Given the description of an element on the screen output the (x, y) to click on. 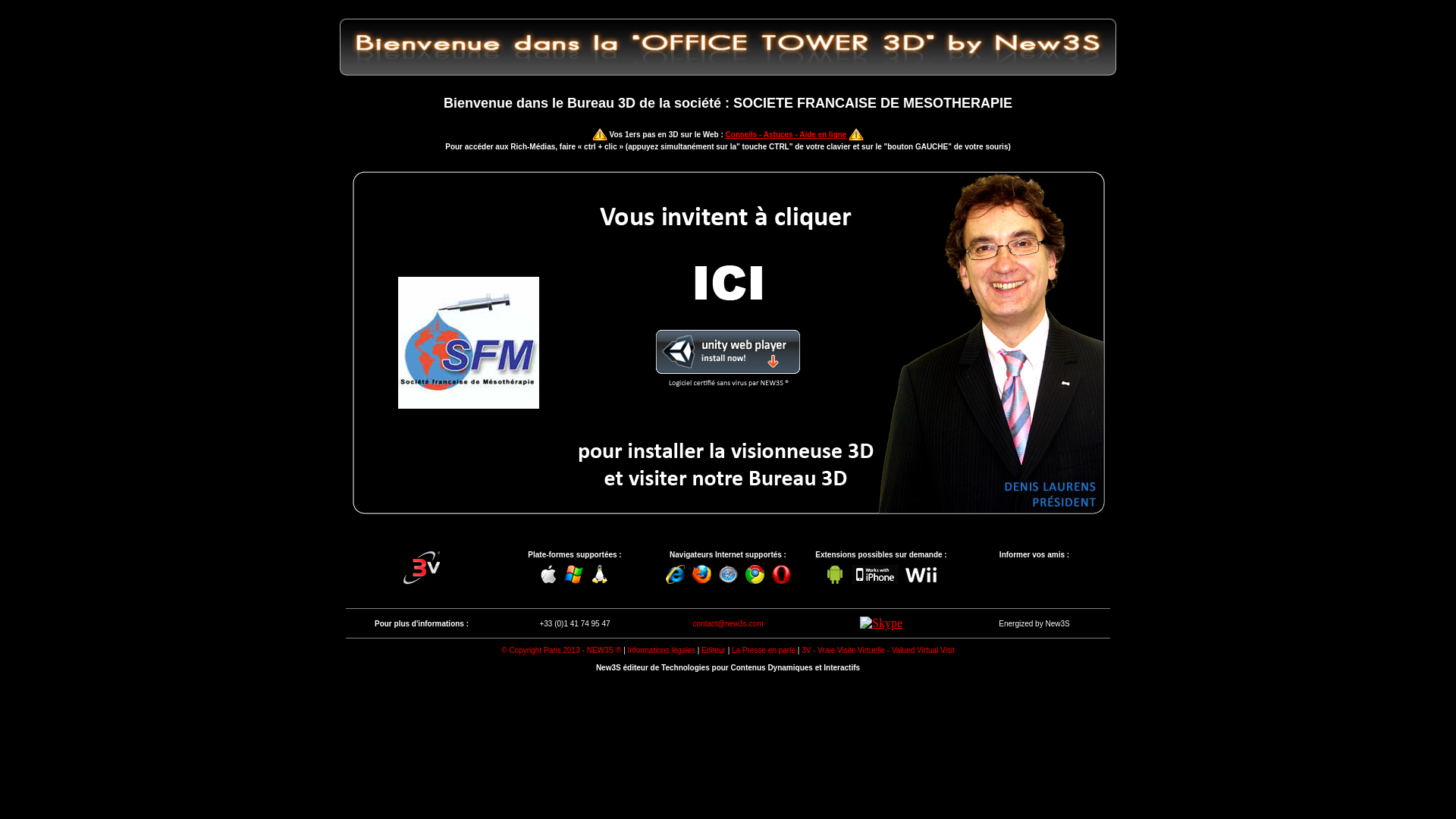
3V - Vraie Visite Virtuelle - Valued Virtual Visit Element type: text (877, 650)
Energized by New3S Element type: text (1033, 621)
3V - Vraie Visite Virtuelle - Valued Virtual Visit Element type: hover (421, 565)
La Presse en parle Element type: text (763, 650)
Editeur Element type: text (714, 650)
contact@new3s.com Element type: text (728, 623)
Conseils - Astuces - Aide en ligne Element type: text (786, 134)
